Given the description of an element on the screen output the (x, y) to click on. 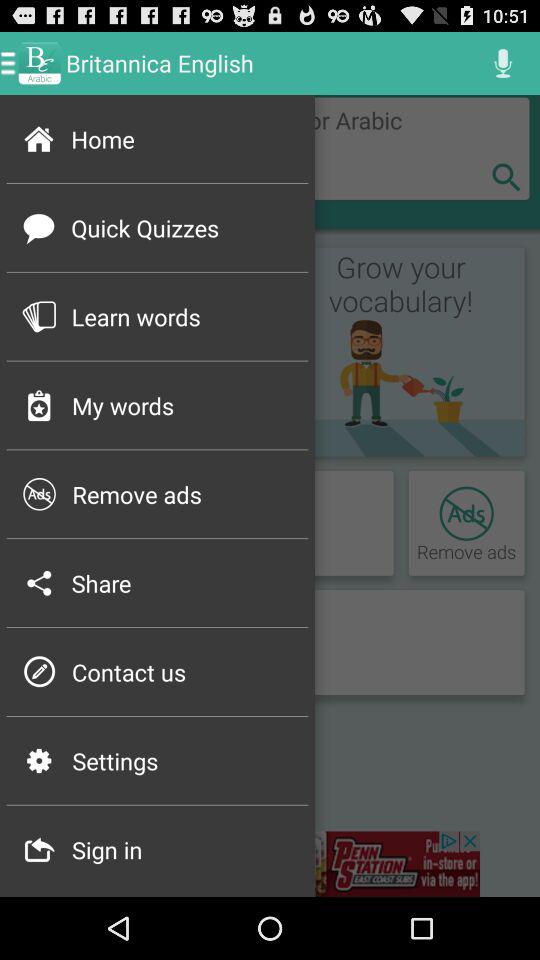
turn off the sign in app (183, 849)
